Given the description of an element on the screen output the (x, y) to click on. 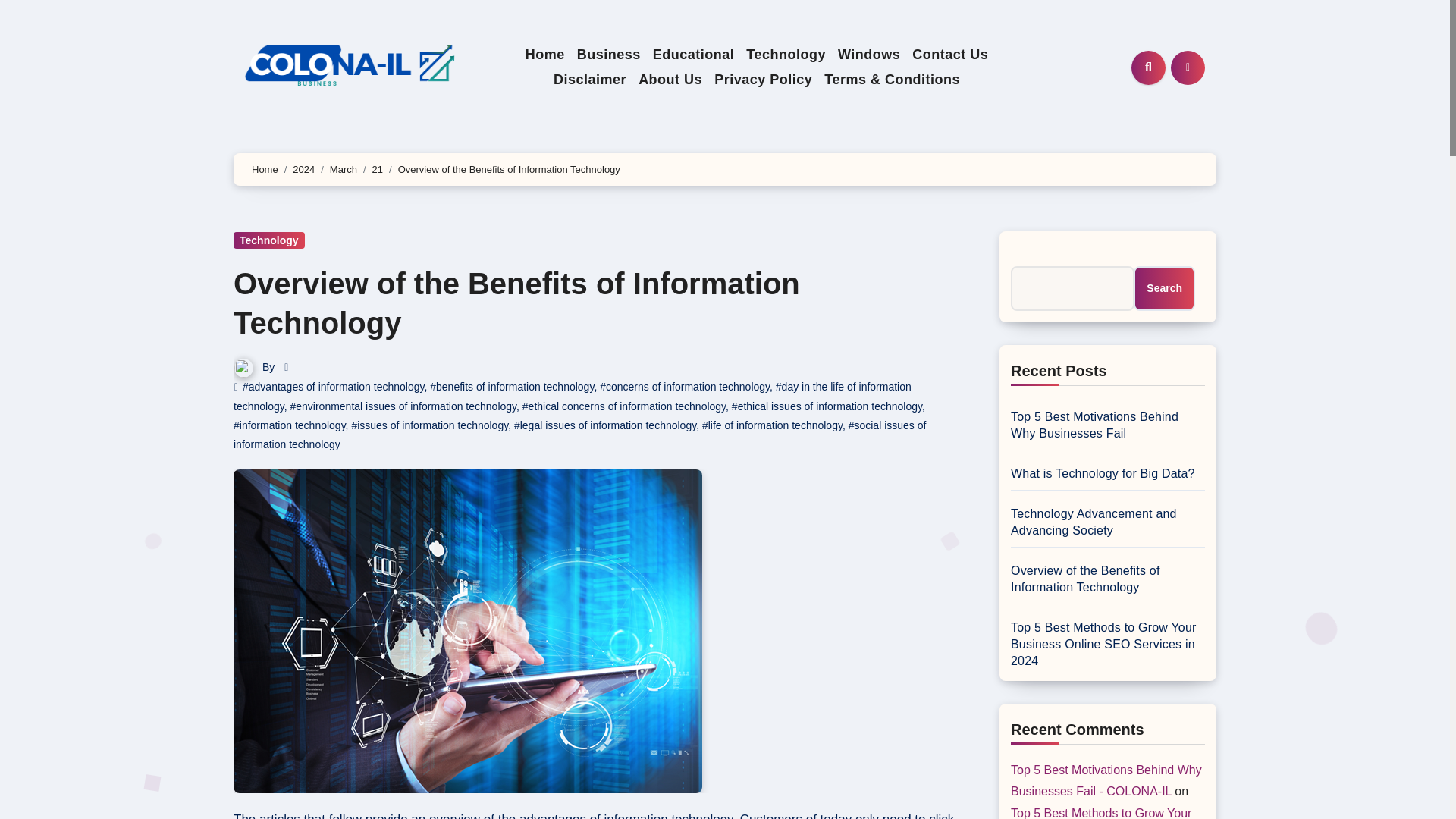
Disclaimer (589, 79)
About Us (669, 79)
Home (544, 54)
Privacy Policy (762, 79)
Disclaimer (589, 79)
Contact Us (949, 54)
2024 (303, 169)
Business (608, 54)
March (343, 169)
Privacy Policy (762, 79)
